Given the description of an element on the screen output the (x, y) to click on. 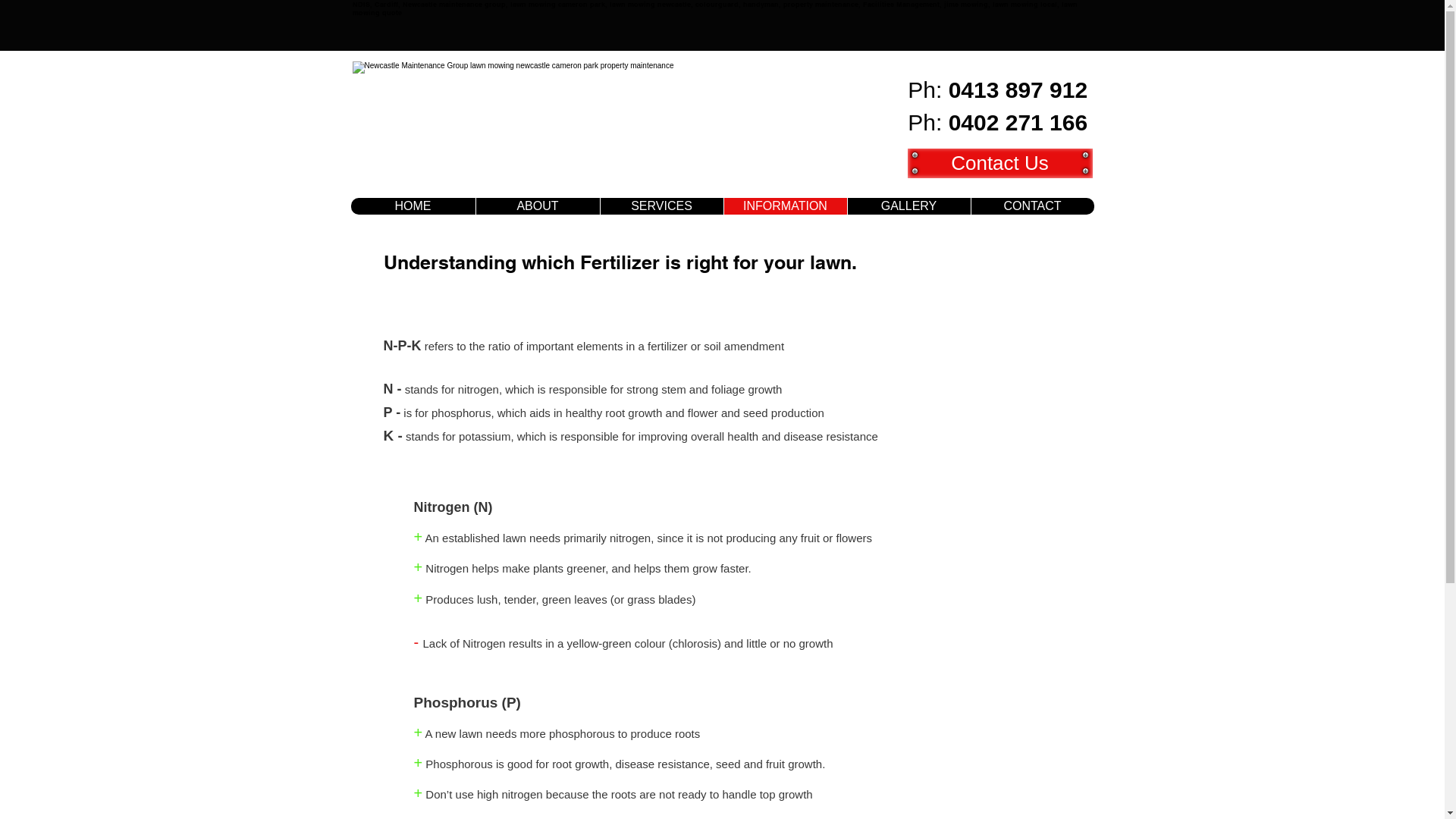
HOME Element type: text (412, 205)
ABOUT Element type: text (536, 205)
CONTACT Element type: text (1032, 205)
GALLERY Element type: text (907, 205)
INFORMATION Element type: text (785, 205)
SERVICES Element type: text (660, 205)
Contact Us Element type: text (999, 162)
